Given the description of an element on the screen output the (x, y) to click on. 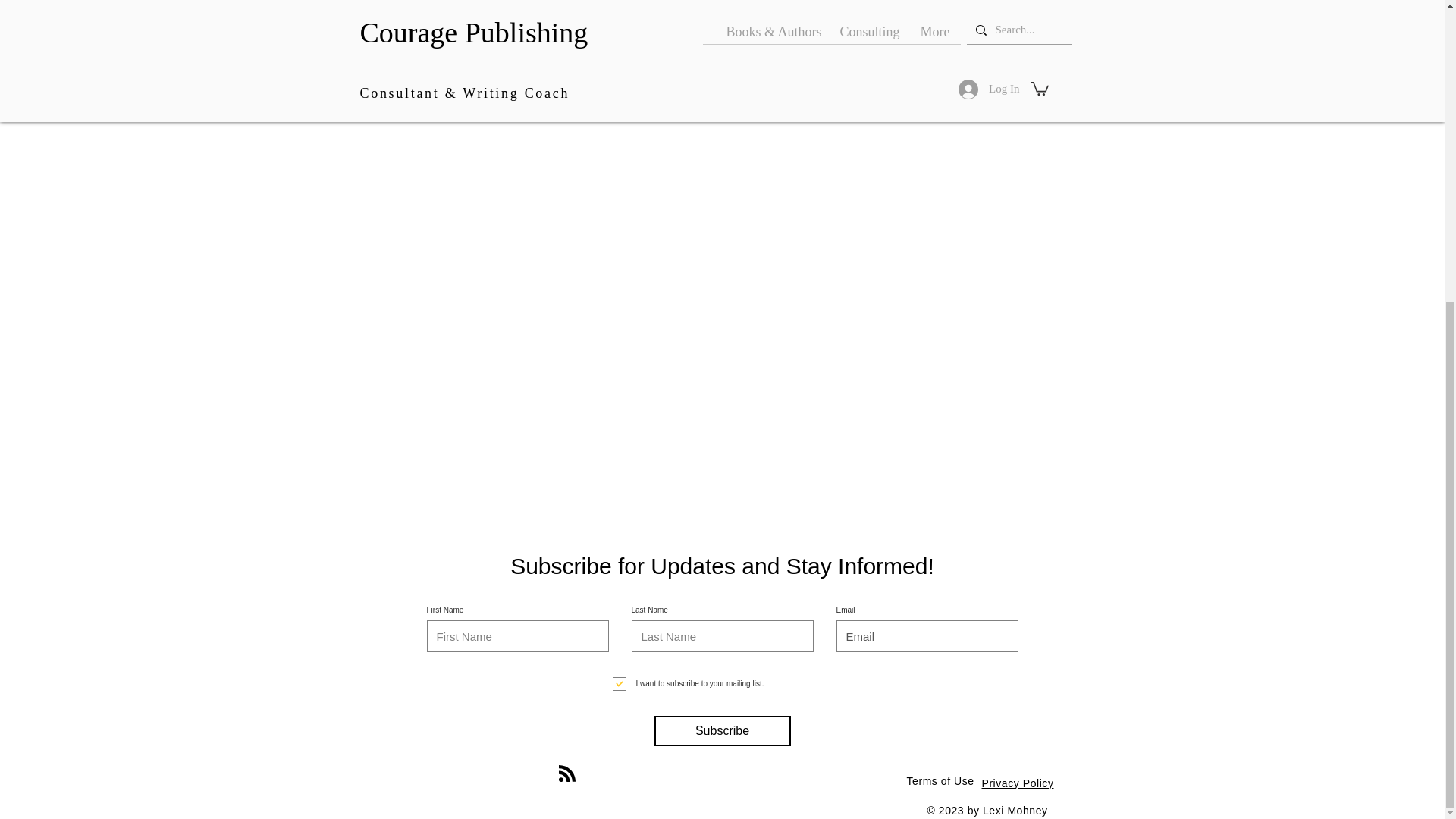
Subscribe (721, 730)
Privacy Policy (1016, 783)
Terms of Use (940, 780)
